Given the description of an element on the screen output the (x, y) to click on. 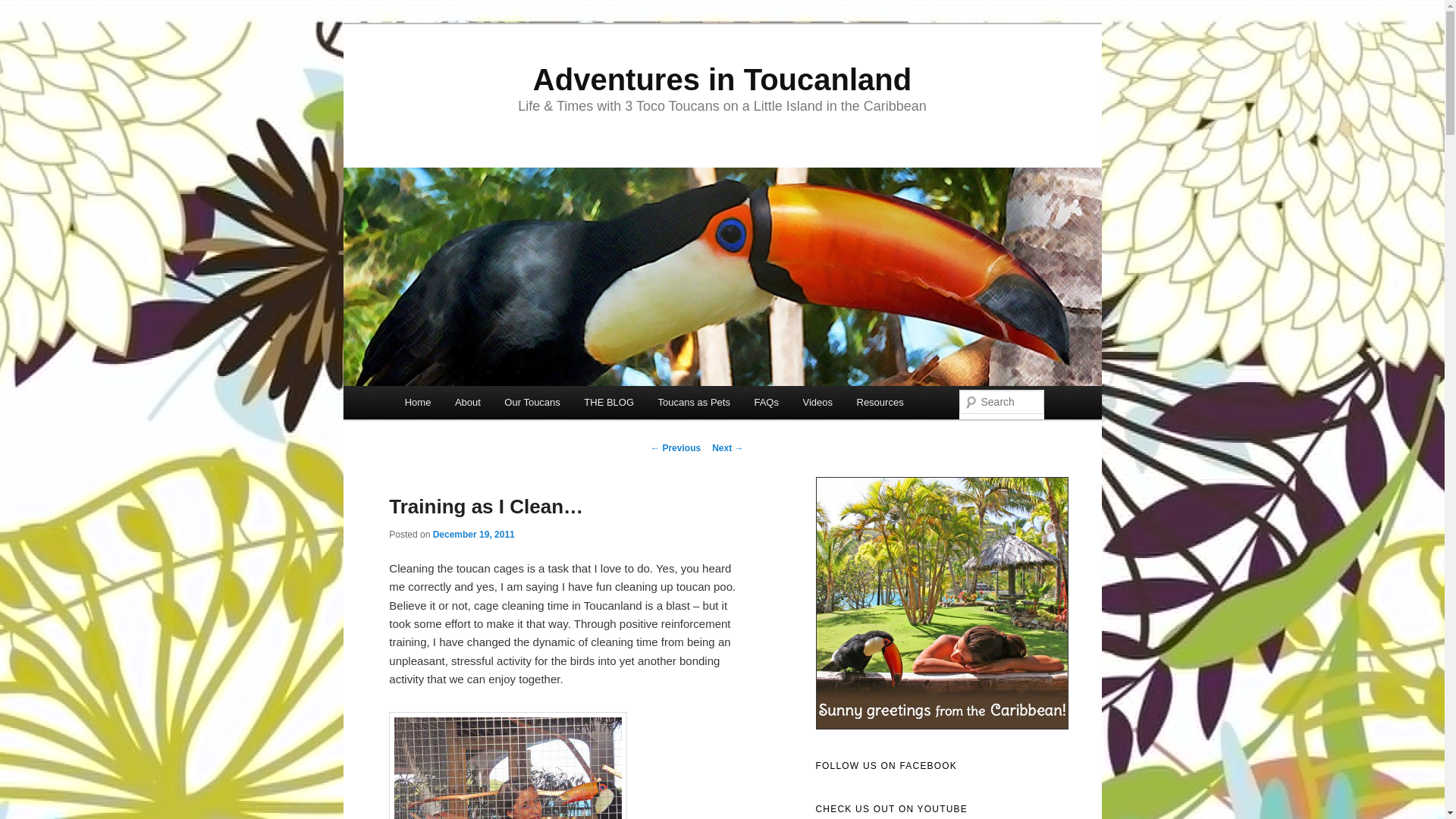
Search (24, 8)
Adventures in Toucanland (721, 79)
Videos (817, 401)
Toucans as Pets (694, 401)
About (467, 401)
Our Toucans (532, 401)
FAQs (766, 401)
December 19, 2011 (473, 534)
THE BLOG (609, 401)
